Given the description of an element on the screen output the (x, y) to click on. 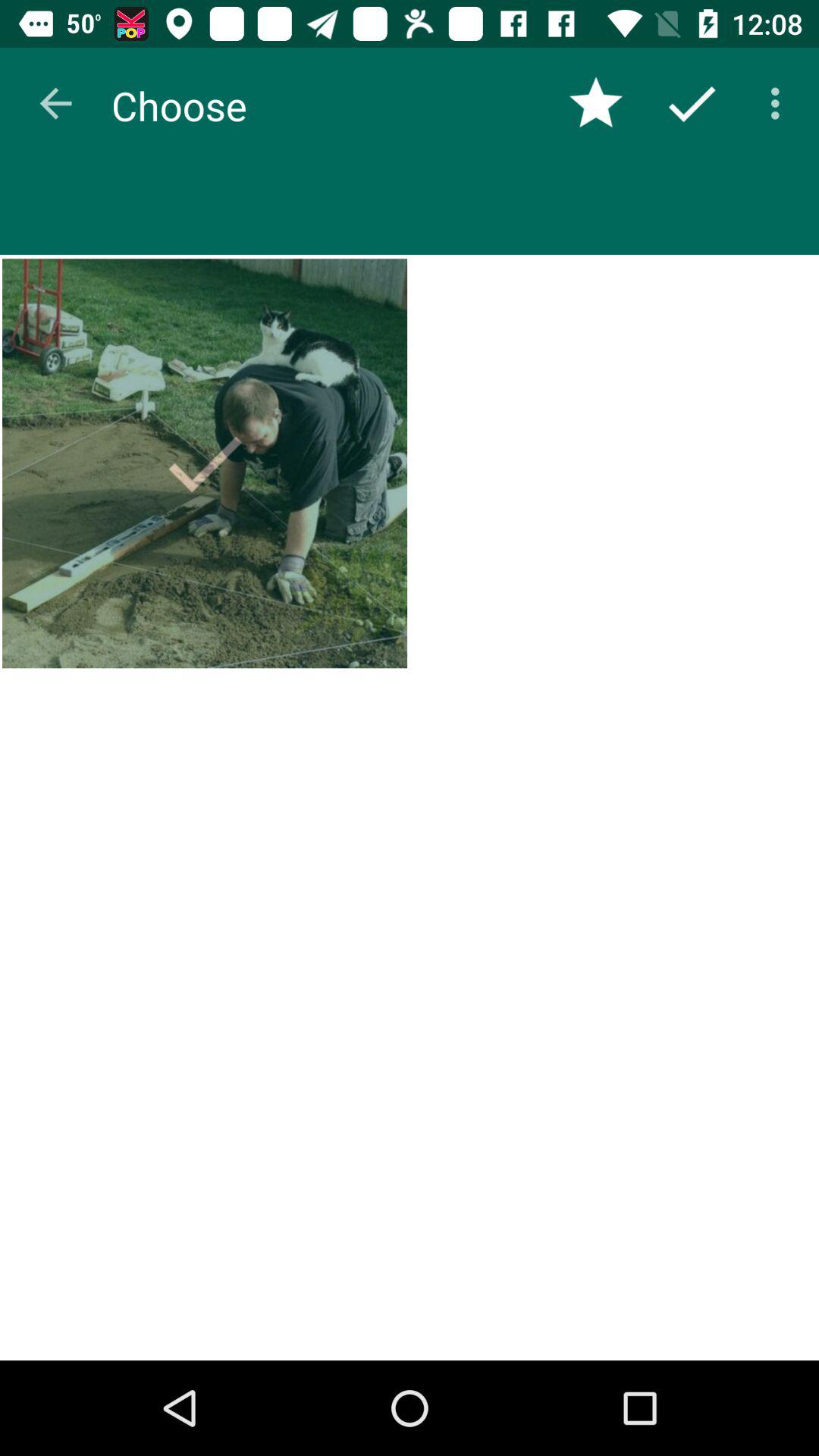
open item next to choose (595, 103)
